Given the description of an element on the screen output the (x, y) to click on. 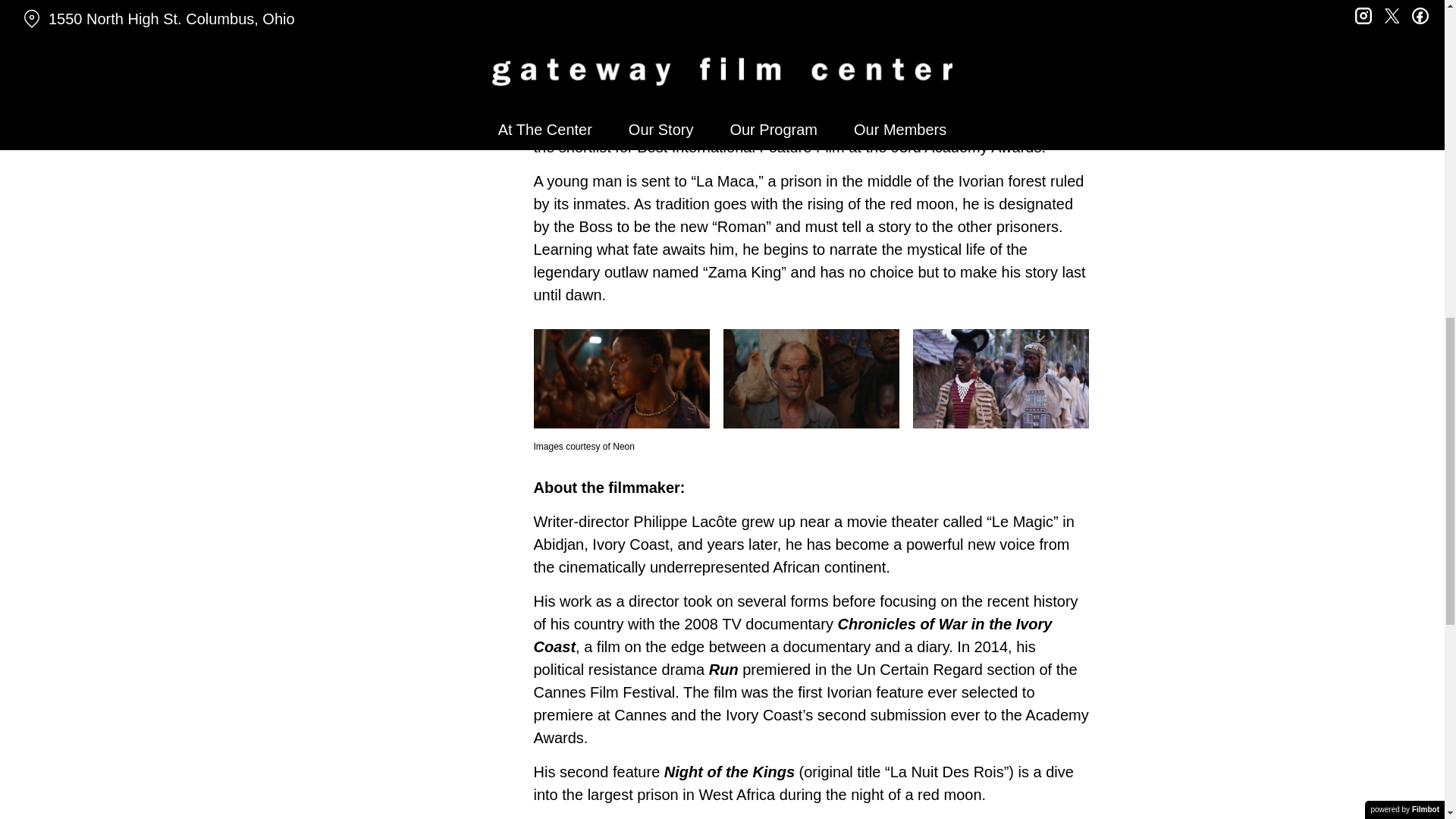
2021 Film Independent Spirit Awards (862, 124)
Amplify Voices Awards (752, 78)
